Given the description of an element on the screen output the (x, y) to click on. 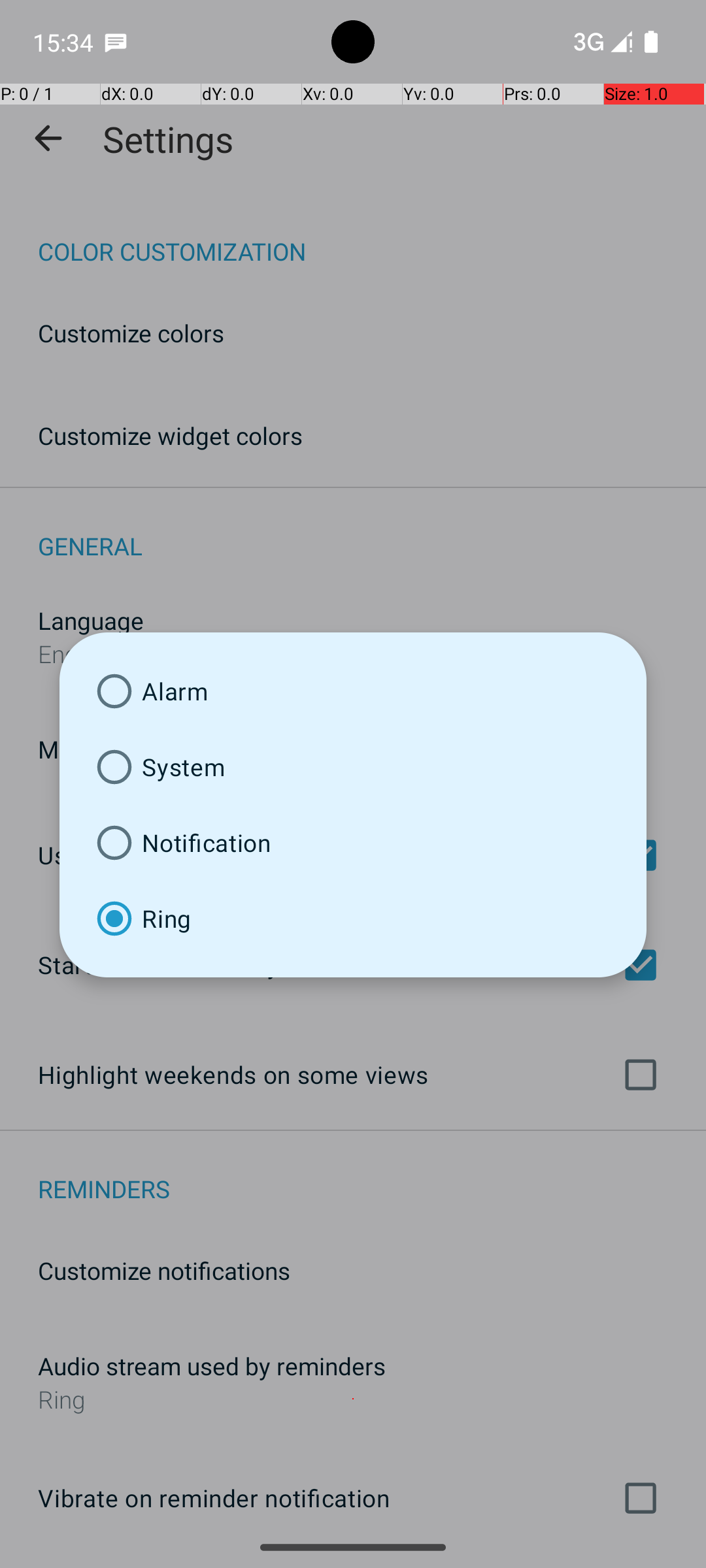
System Element type: android.widget.RadioButton (352, 766)
Ring Element type: android.widget.RadioButton (352, 918)
